Given the description of an element on the screen output the (x, y) to click on. 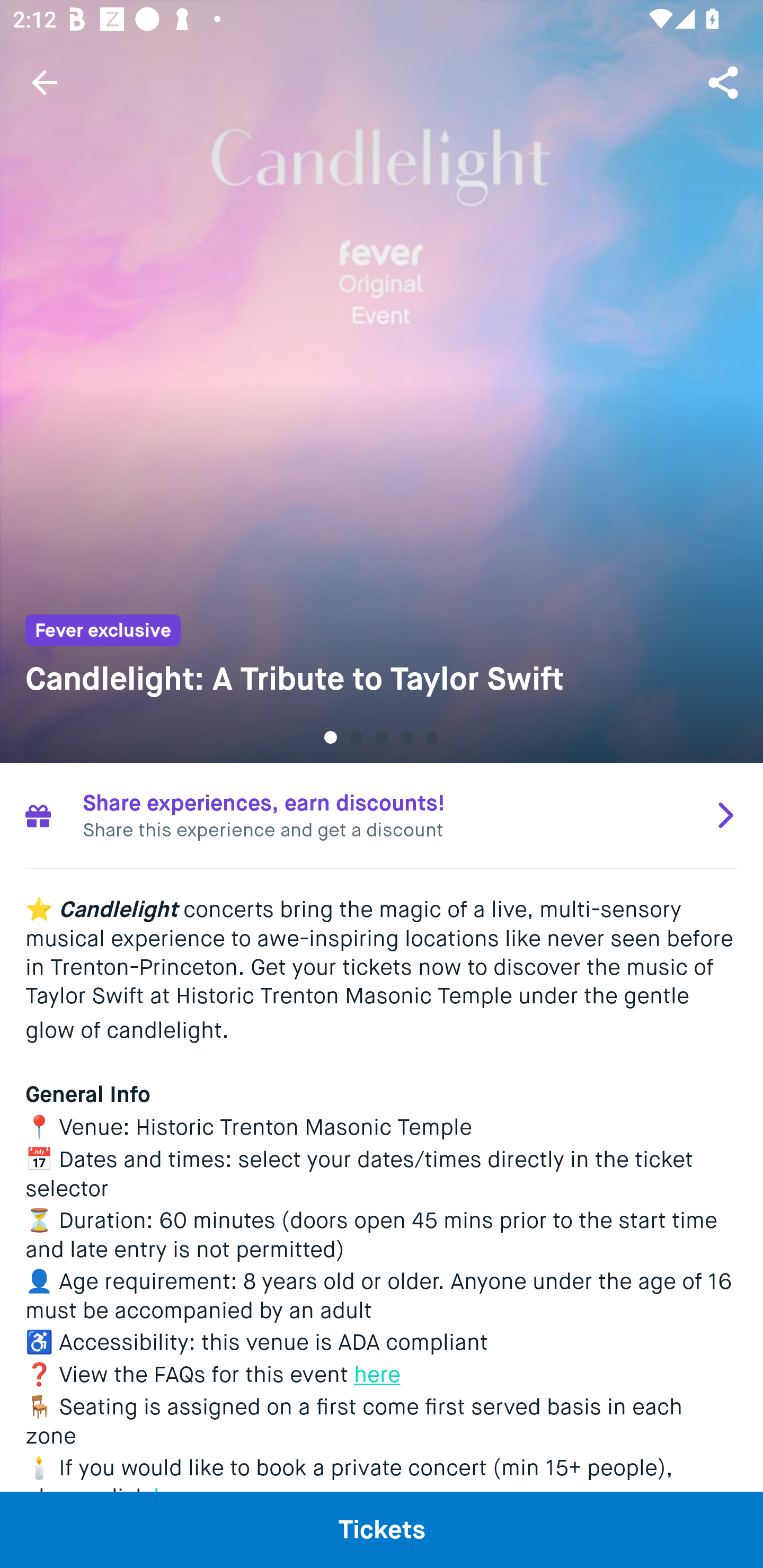
Navigate up (44, 82)
Share (724, 81)
Tickets (381, 1529)
